Given the description of an element on the screen output the (x, y) to click on. 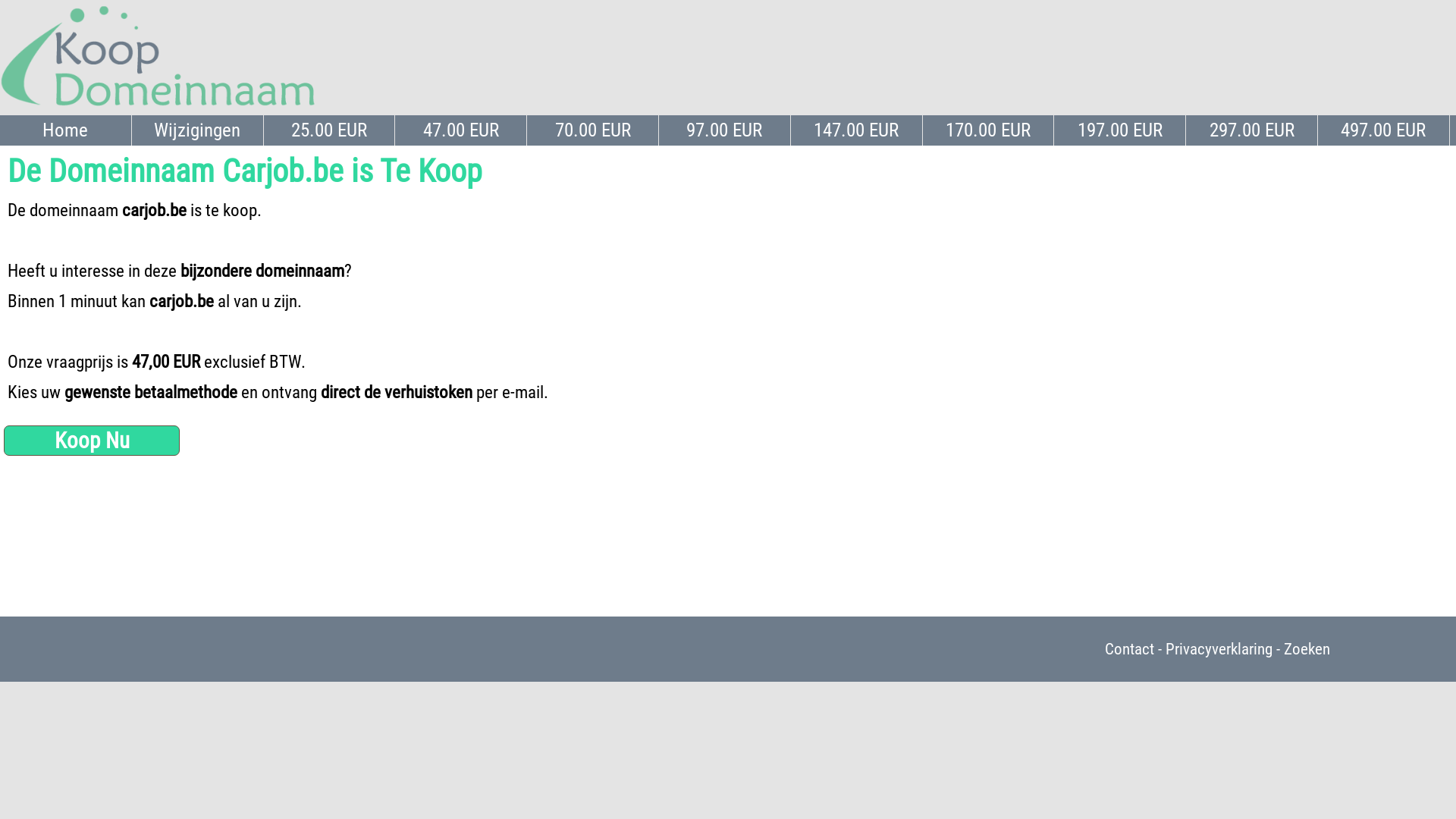
Wijzigingen Element type: text (197, 130)
147.00 EUR Element type: text (856, 130)
297.00 EUR Element type: text (1251, 130)
Contact Element type: text (1129, 649)
497.00 EUR Element type: text (1383, 130)
25.00 EUR Element type: text (329, 130)
Koop Nu Element type: text (91, 440)
Koop Domeinnaam Element type: hover (158, 108)
Koop Domeinnaam Element type: hover (158, 56)
47.00 EUR Element type: text (461, 130)
97.00 EUR Element type: text (724, 130)
197.00 EUR Element type: text (1120, 130)
Zoeken Element type: text (1306, 649)
Privacyverklaring Element type: text (1218, 649)
Home Element type: text (65, 130)
70.00 EUR Element type: text (592, 130)
170.00 EUR Element type: text (988, 130)
